Given the description of an element on the screen output the (x, y) to click on. 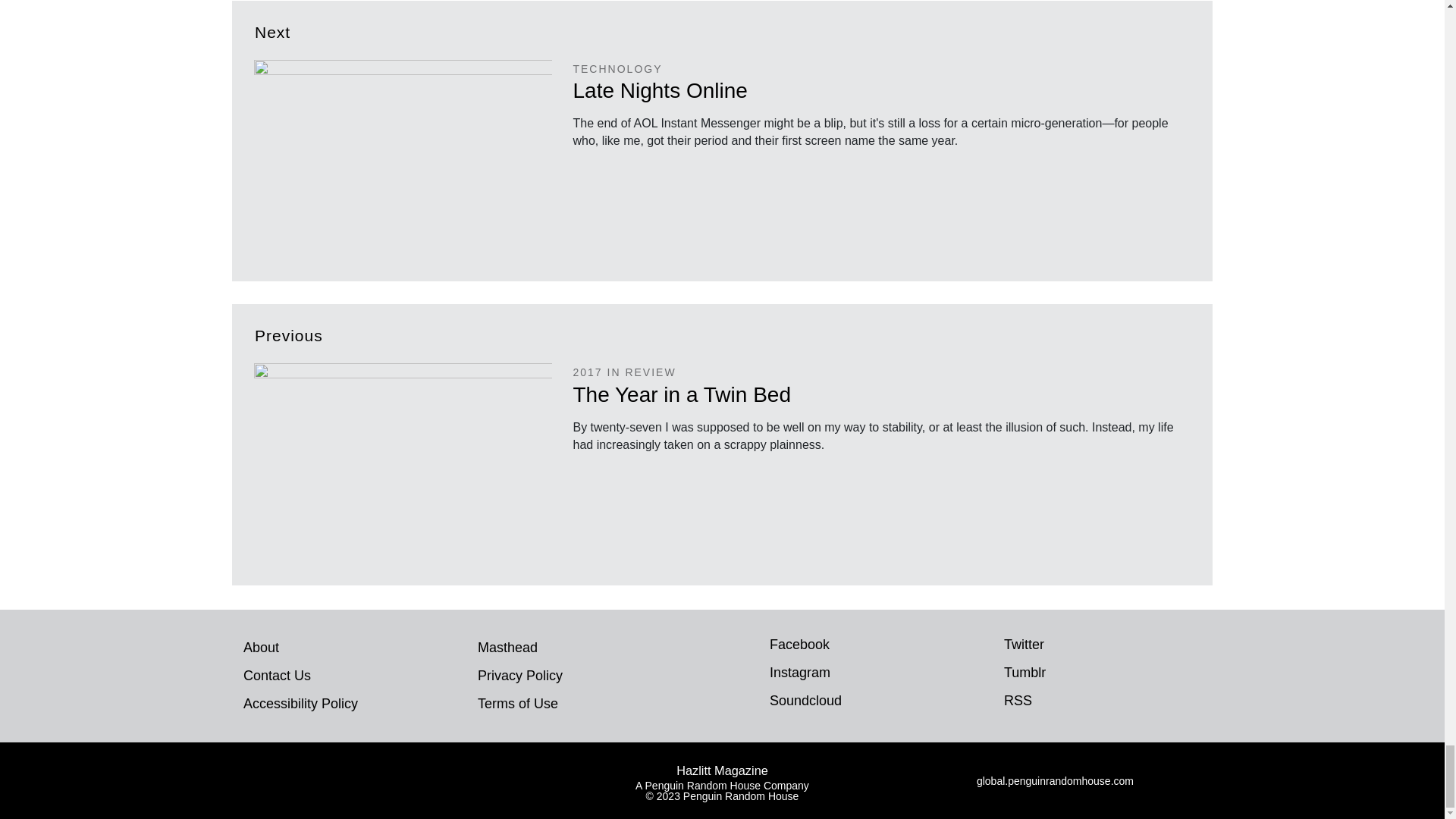
Facebook (752, 647)
RSS (986, 702)
Instagram (752, 674)
Tumblr (986, 674)
Twitter (986, 647)
Soundcloud (752, 702)
